Given the description of an element on the screen output the (x, y) to click on. 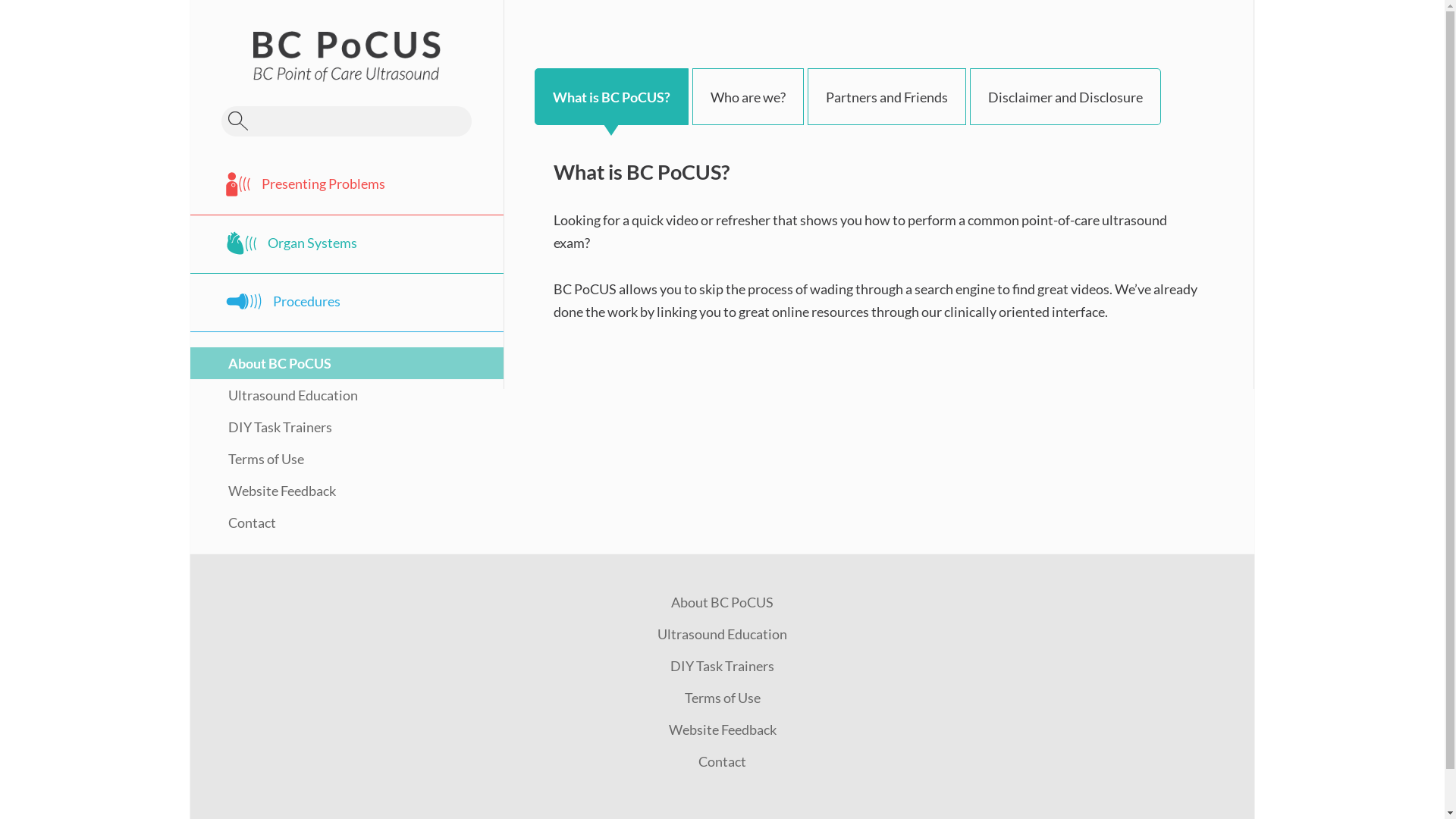
Contact Element type: text (233, 522)
Ultrasound Education Element type: text (273, 394)
DIY Task Trainers Element type: text (722, 665)
What is BC PoCUS? Element type: text (611, 96)
Disclaimer and Disclosure Element type: text (1065, 96)
Terms of Use Element type: text (247, 458)
Terms of Use Element type: text (721, 697)
Organ Systems Element type: text (346, 244)
DIY Task Trainers Element type: text (261, 426)
Presenting Problems Element type: text (346, 185)
Procedures Element type: text (346, 302)
Website Feedback Element type: text (262, 490)
Who are we? Element type: text (748, 96)
Website Feedback Element type: text (722, 729)
About BC PoCUS Element type: text (260, 362)
About BC PoCUS Element type: text (722, 601)
Ultrasound Education Element type: text (722, 633)
Partners and Friends Element type: text (886, 96)
Contact Element type: text (722, 761)
